Given the description of an element on the screen output the (x, y) to click on. 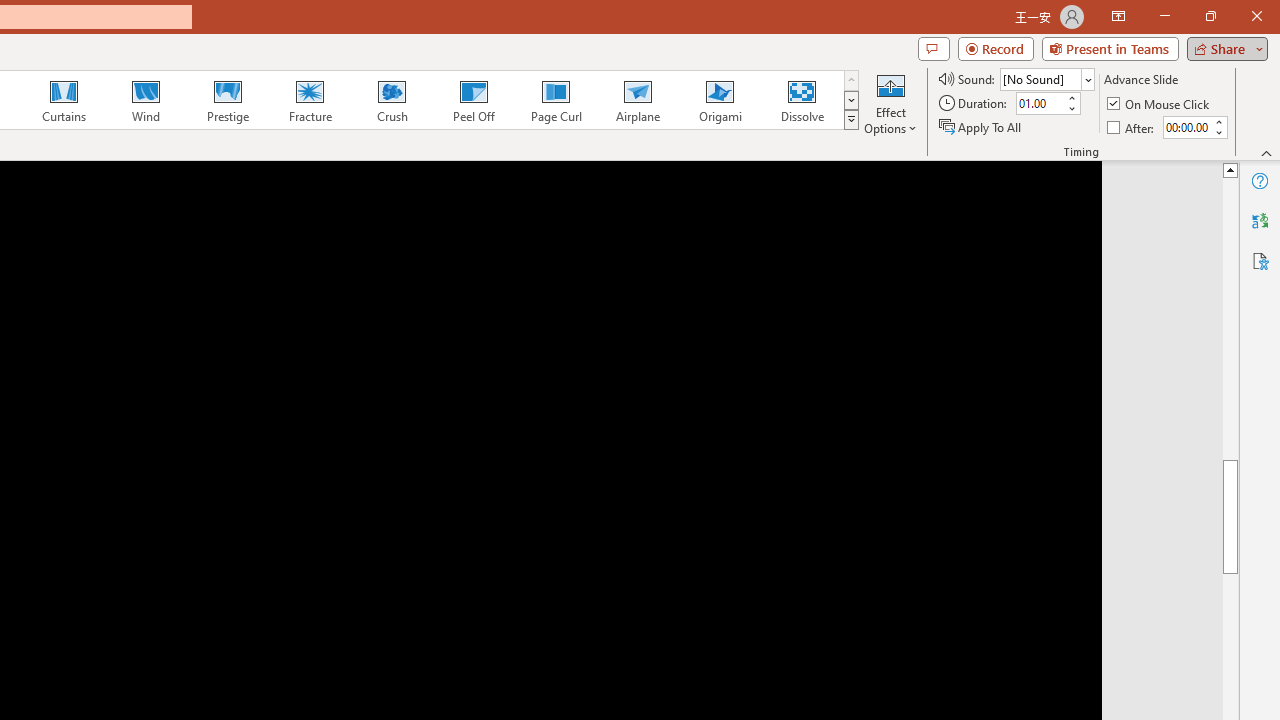
Transition Effects (850, 120)
Peel Off (473, 100)
